Given the description of an element on the screen output the (x, y) to click on. 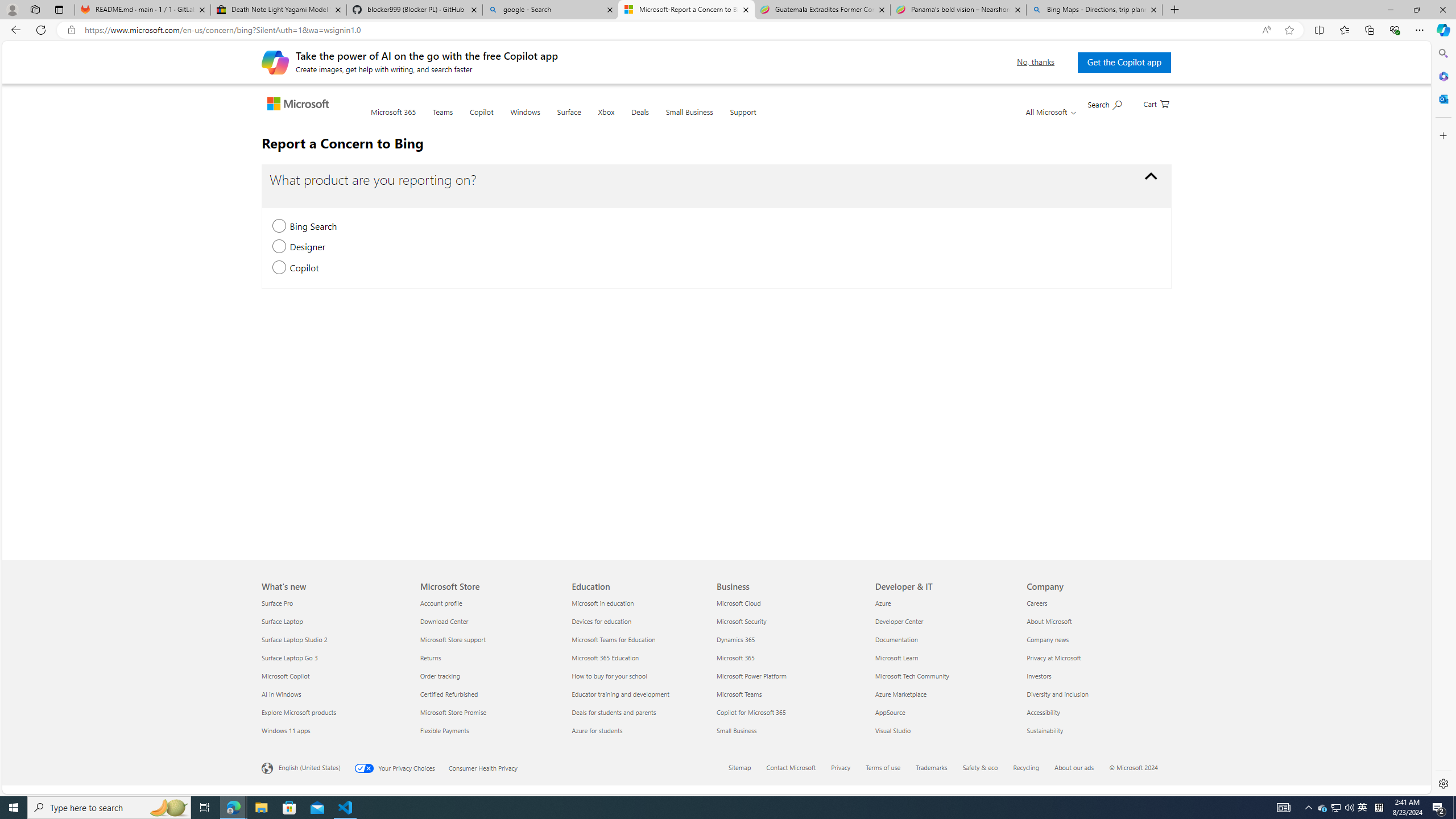
Privacy at Microsoft (1095, 657)
Dynamics 365 Business (735, 638)
Download Center Microsoft Store (443, 620)
Windows 11 apps What's new (286, 729)
Your Privacy Choices Opt-Out Icon Your Privacy Choices (400, 766)
Microsoft 365 Education Education (605, 656)
Flexible Payments Microsoft Store (443, 729)
Bing Search, new section will be expanded (279, 226)
Returns Microsoft Store (430, 656)
About Microsoft Company (1048, 620)
Azure Developer & IT (883, 602)
Safety & eco (986, 768)
